Given the description of an element on the screen output the (x, y) to click on. 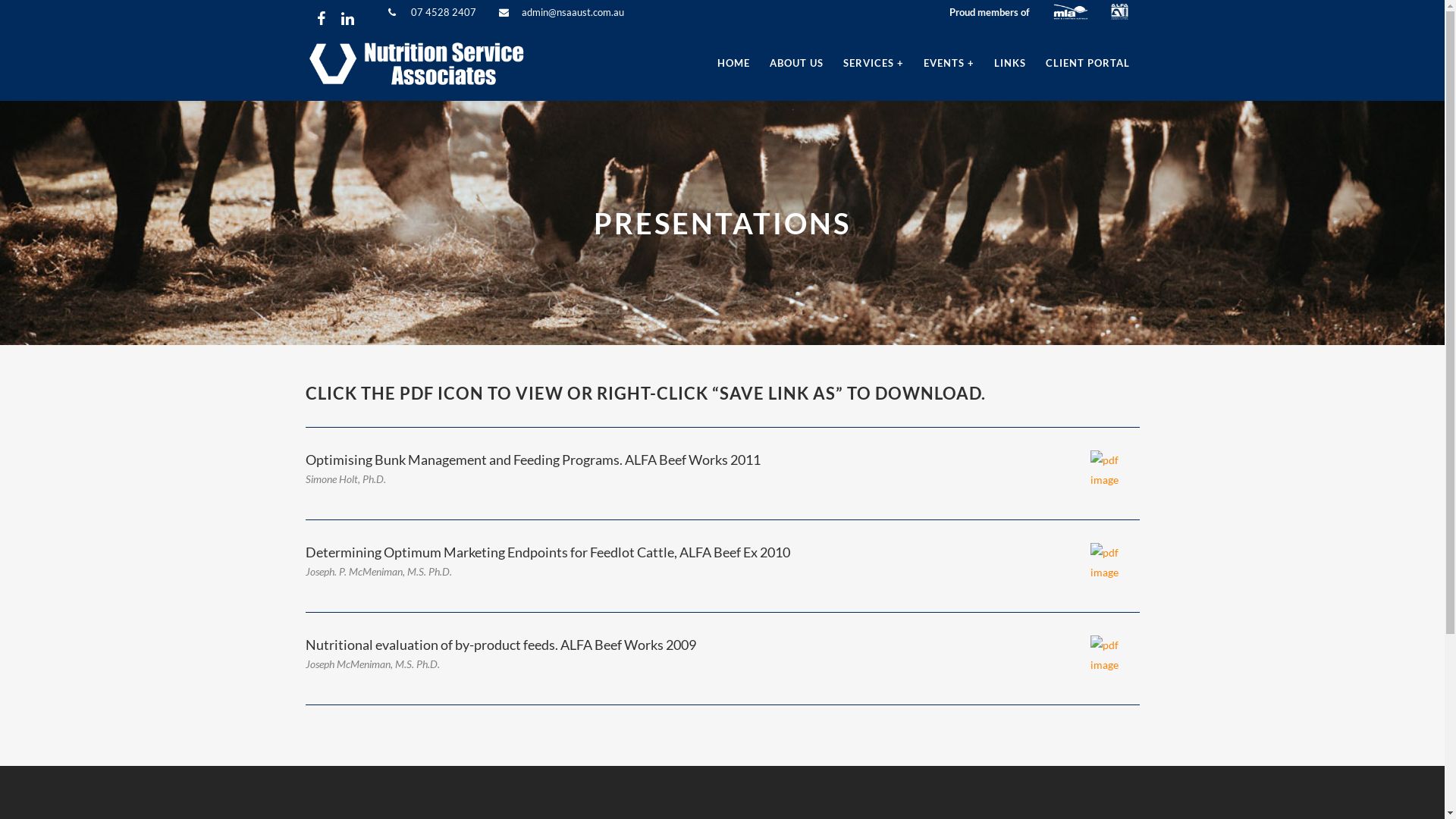
admin@nsaaust.com.au Element type: text (572, 12)
CLIENT PORTAL Element type: text (1087, 62)
EVENTS + Element type: text (948, 62)
07 4528 2407 Element type: text (443, 12)
SERVICES + Element type: text (872, 62)
ABOUT US Element type: text (796, 62)
HOME Element type: text (732, 62)
LINKS Element type: text (1009, 62)
